Given the description of an element on the screen output the (x, y) to click on. 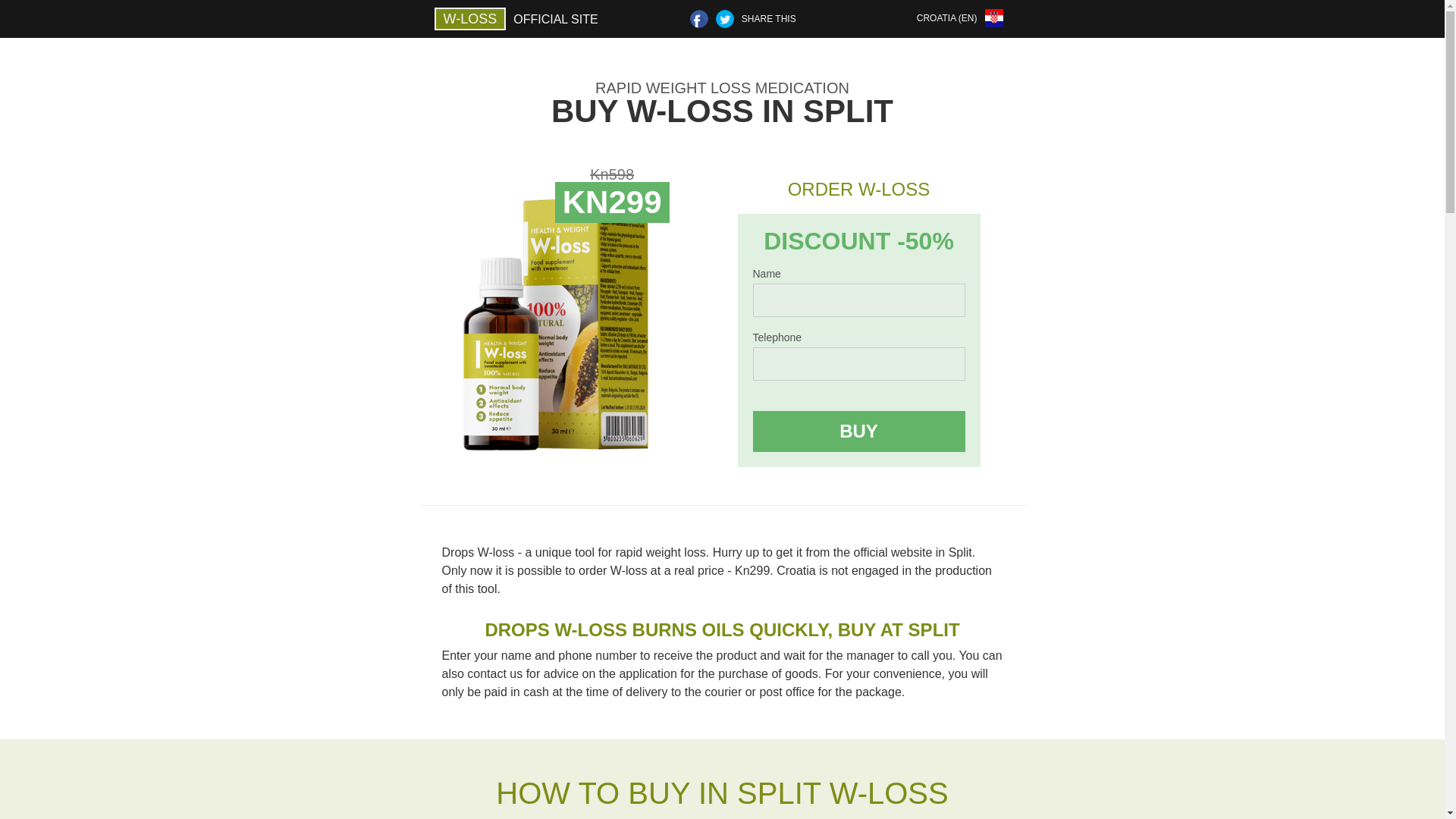
Facebook (698, 18)
Twitter (724, 18)
BUY (857, 431)
W-LOSS OFFICIAL SITE (519, 18)
